Given the description of an element on the screen output the (x, y) to click on. 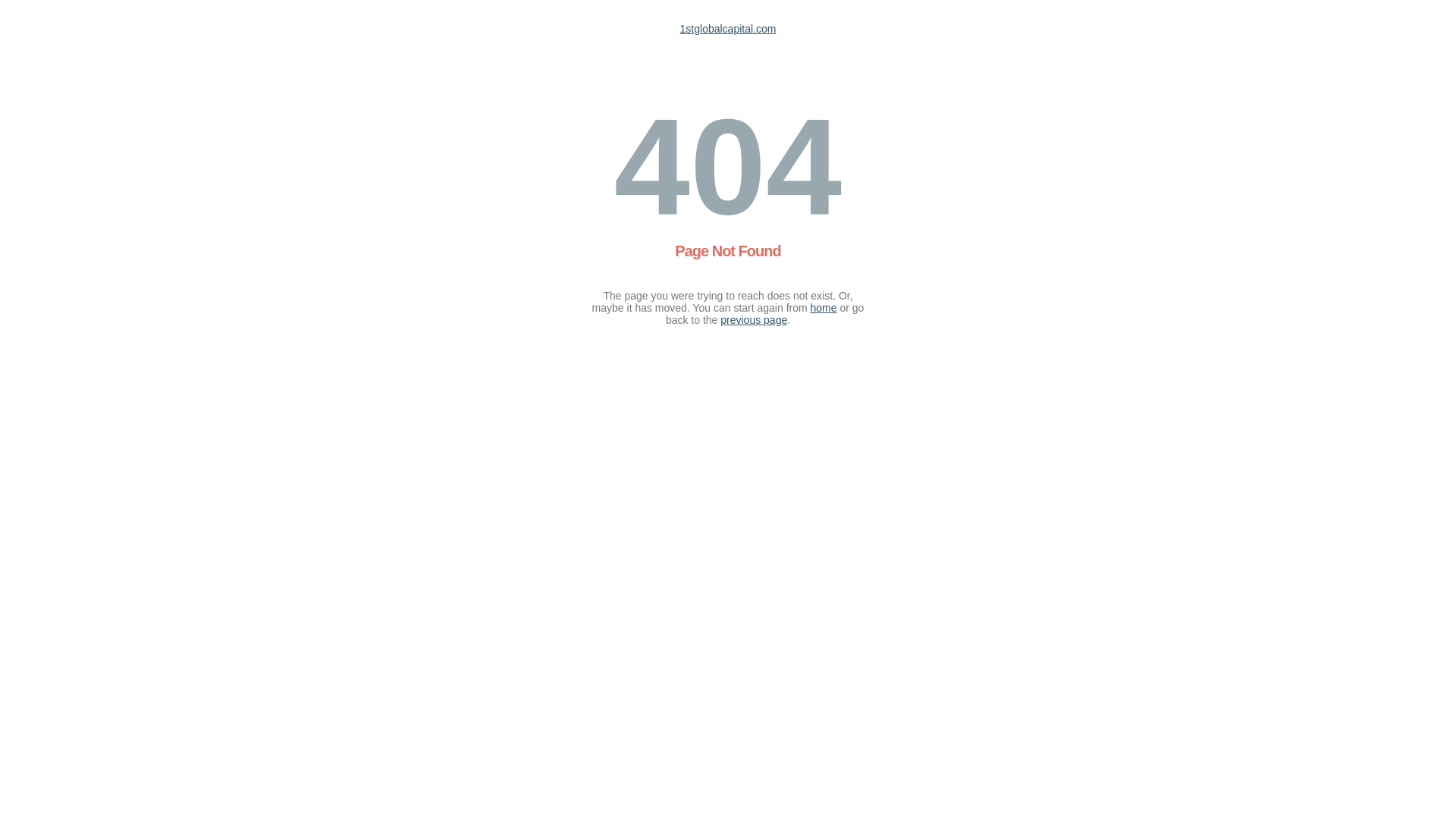
previous page Element type: text (753, 319)
1stglobalcapital.com Element type: text (728, 28)
home Element type: text (823, 307)
